Given the description of an element on the screen output the (x, y) to click on. 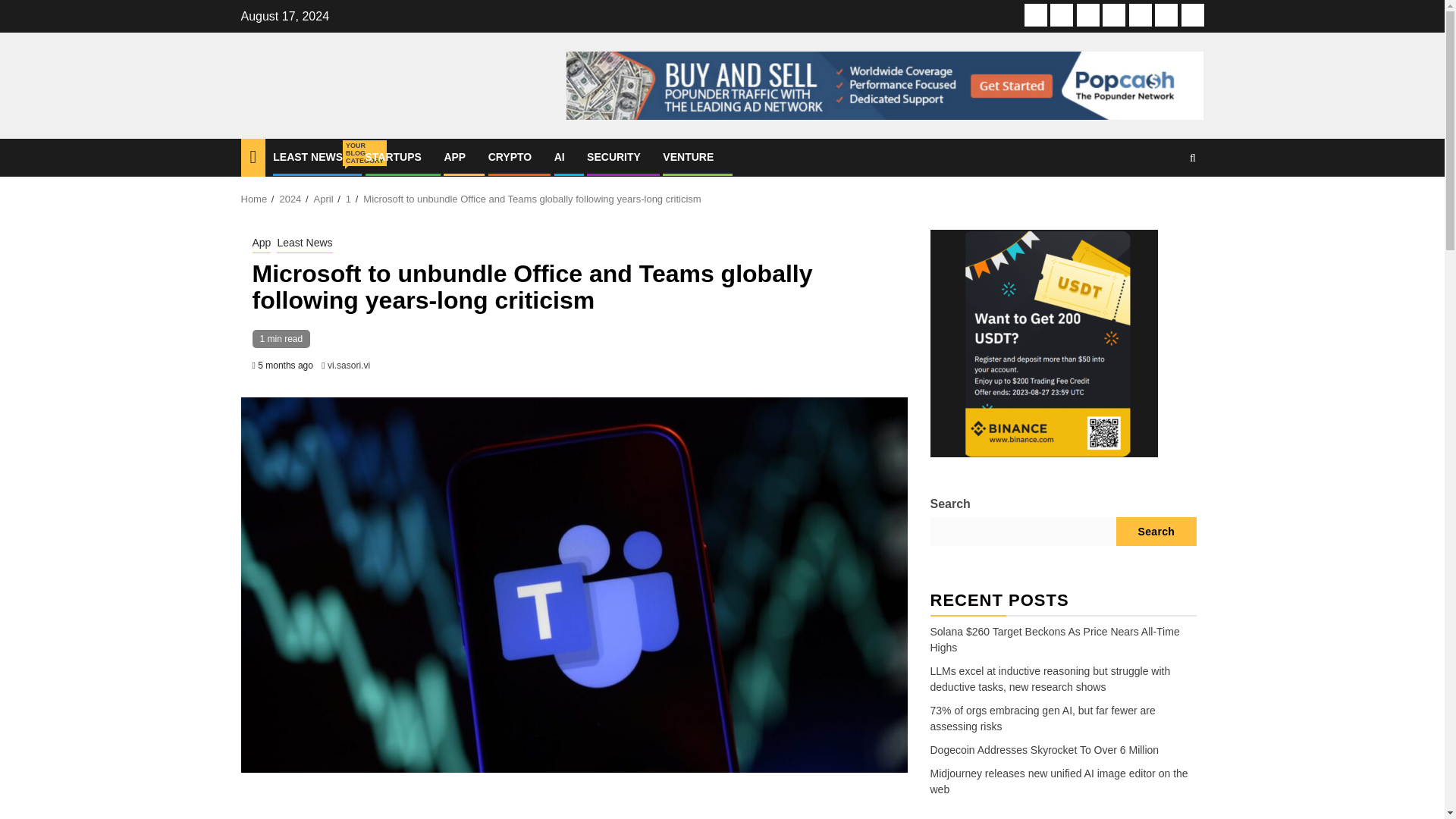
APP (454, 156)
CRYPTO (509, 156)
2024 (290, 198)
App (1088, 15)
Security (1165, 15)
crypto (1113, 15)
AI (1140, 15)
Venture (1192, 15)
VENTURE (687, 156)
